Given the description of an element on the screen output the (x, y) to click on. 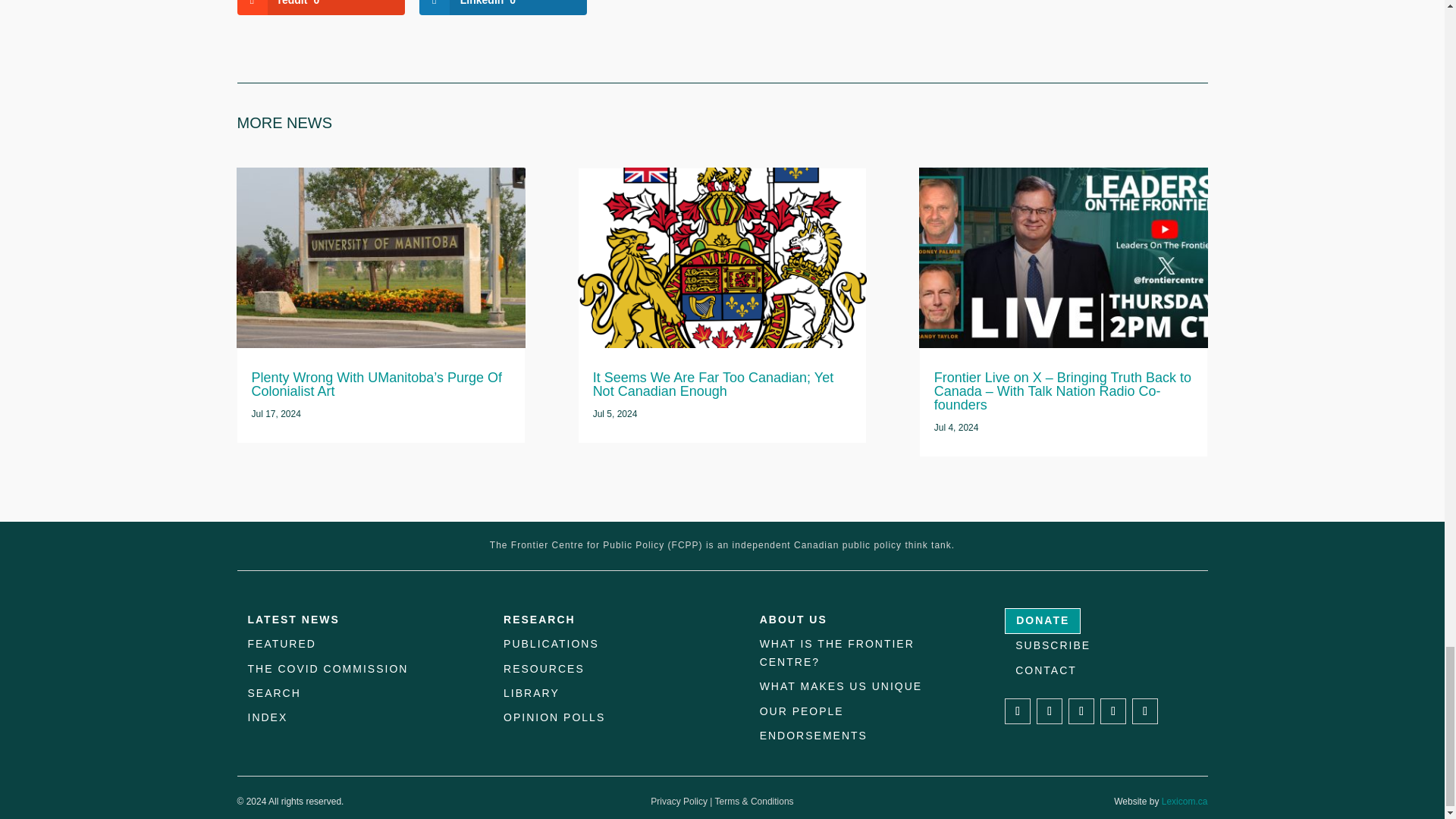
Follow on X (1049, 710)
Follow on Youtube (1144, 710)
Follow on Facebook (1017, 710)
Follow on LinkedIn (1081, 710)
Lexicom.ca (1184, 801)
Follow on SoundCloud (1112, 710)
